Given the description of an element on the screen output the (x, y) to click on. 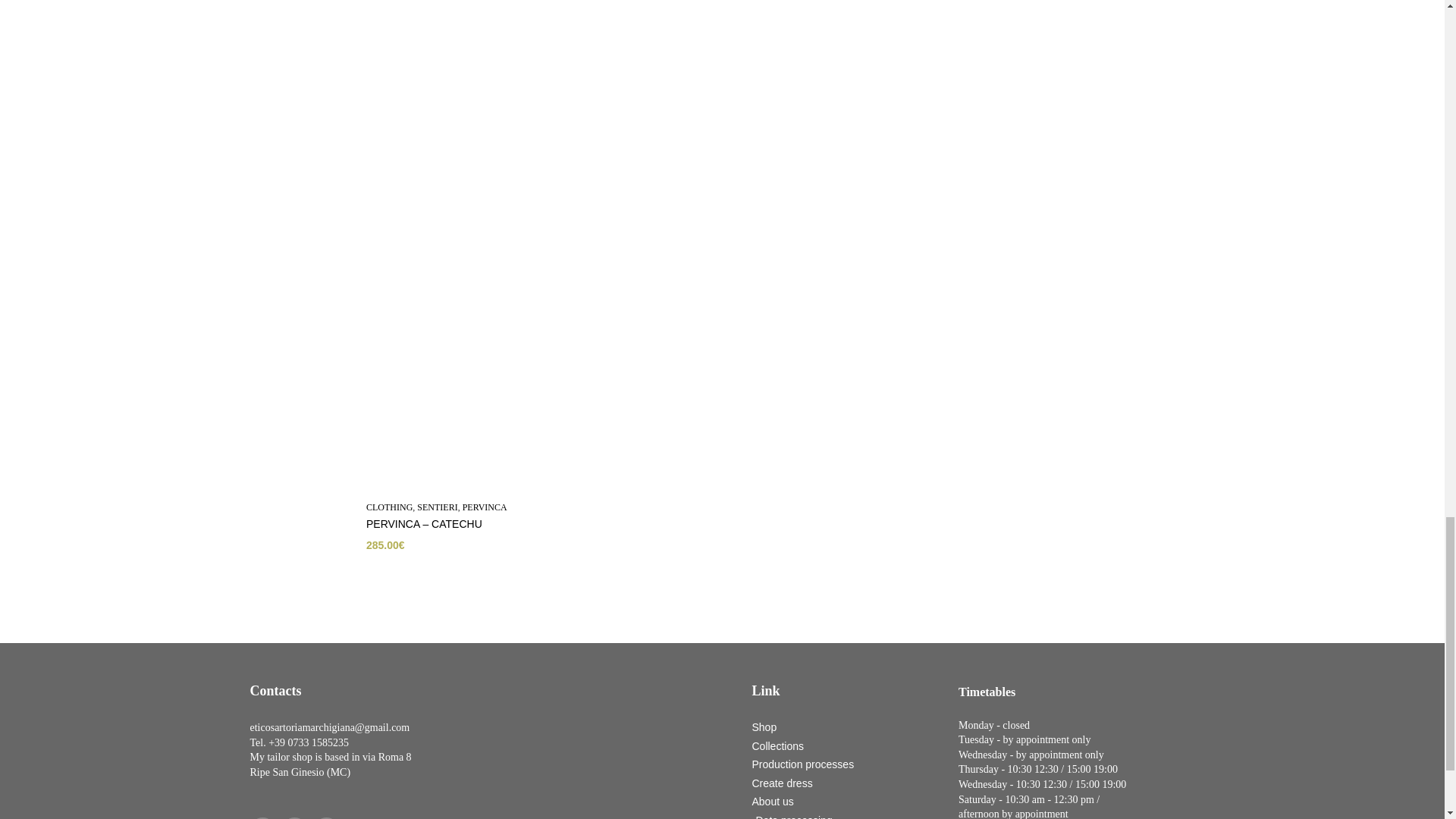
SENTIERI (436, 507)
PERVINCA (483, 507)
CLOTHING (388, 507)
